Given the description of an element on the screen output the (x, y) to click on. 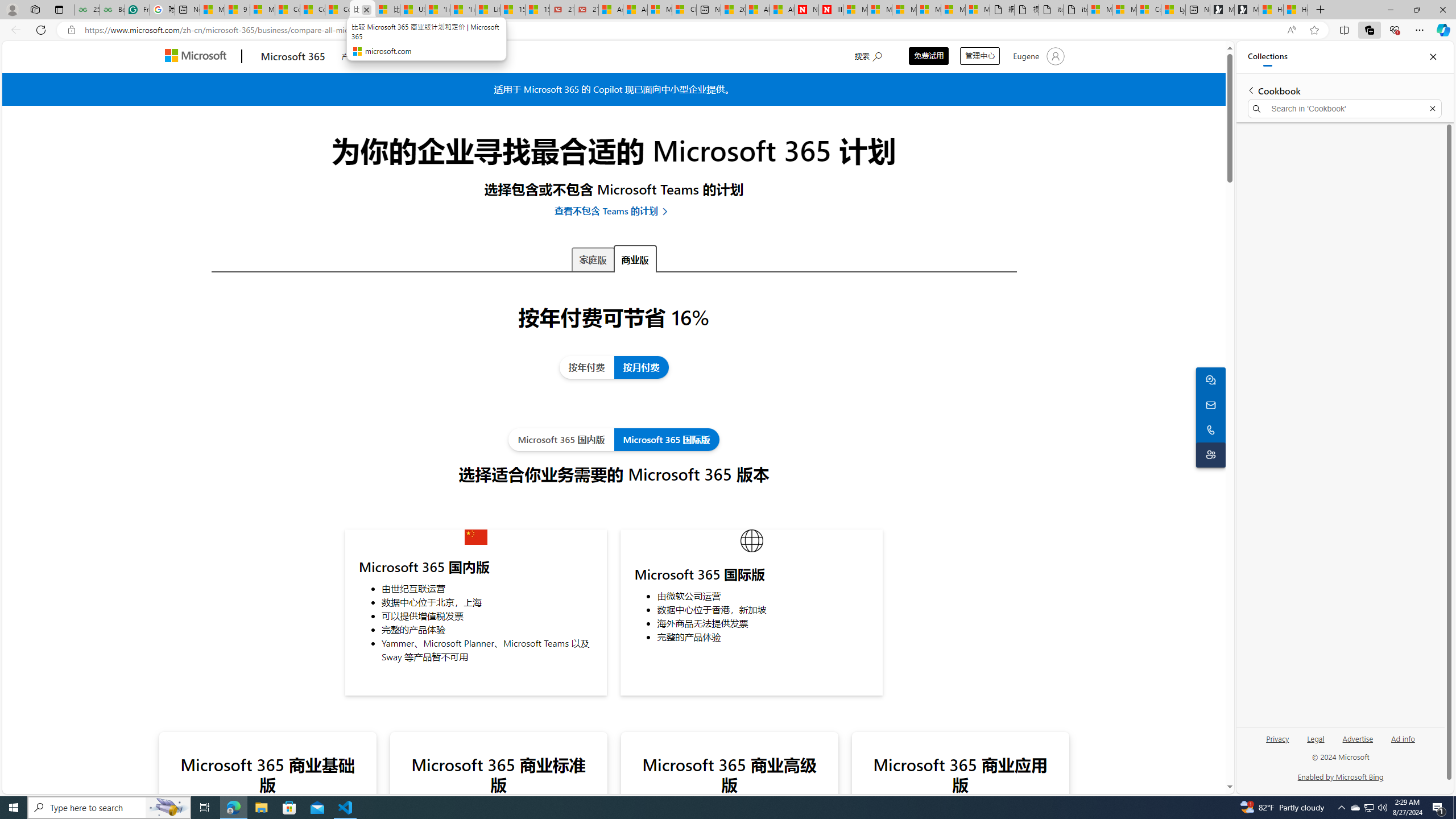
21 Movies That Outdid the Books They Were Based On (585, 9)
USA TODAY - MSN (411, 9)
Cloud Computing Services | Microsoft Azure (683, 9)
